Given the description of an element on the screen output the (x, y) to click on. 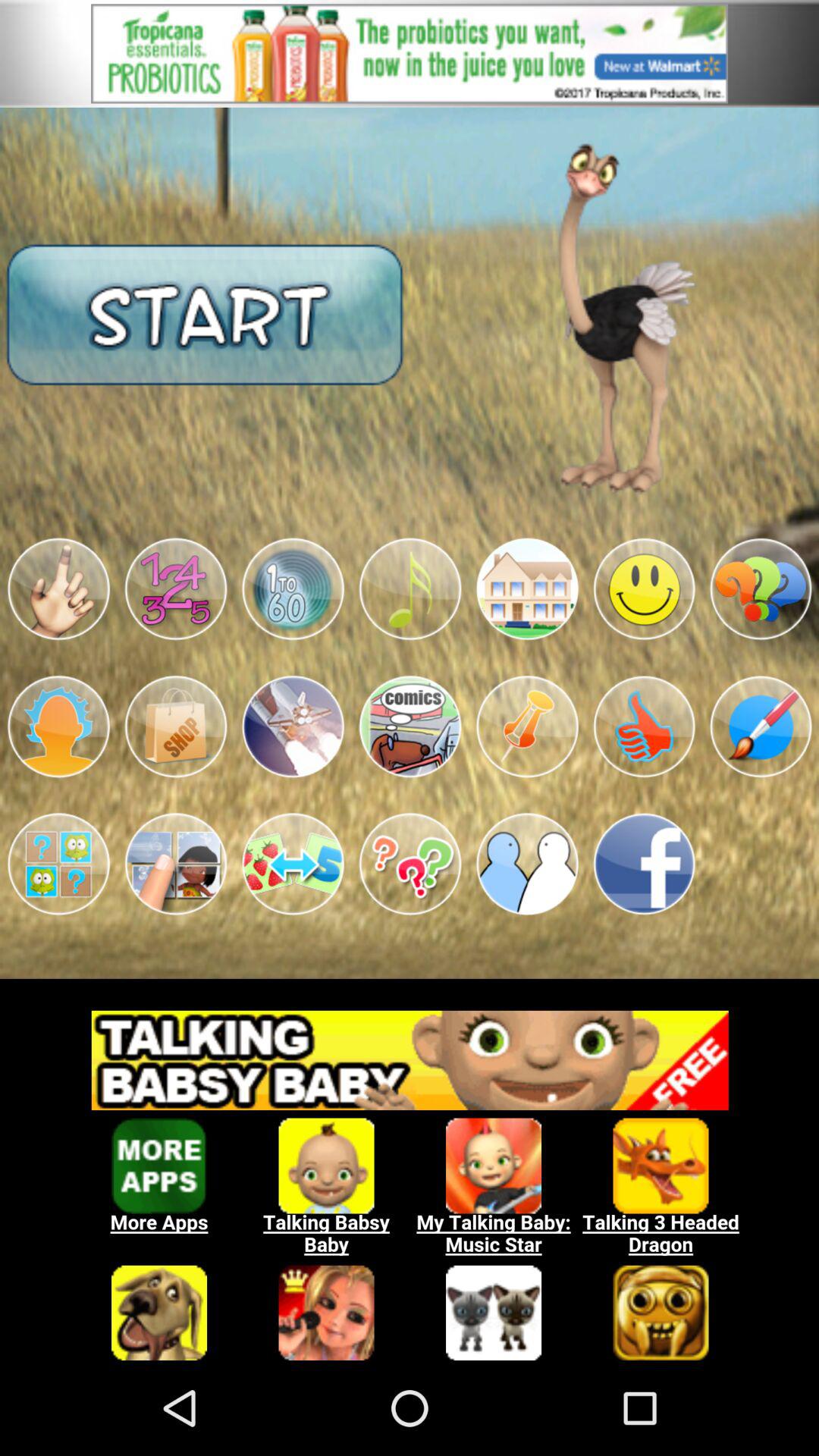
select the emojies option (58, 589)
